Given the description of an element on the screen output the (x, y) to click on. 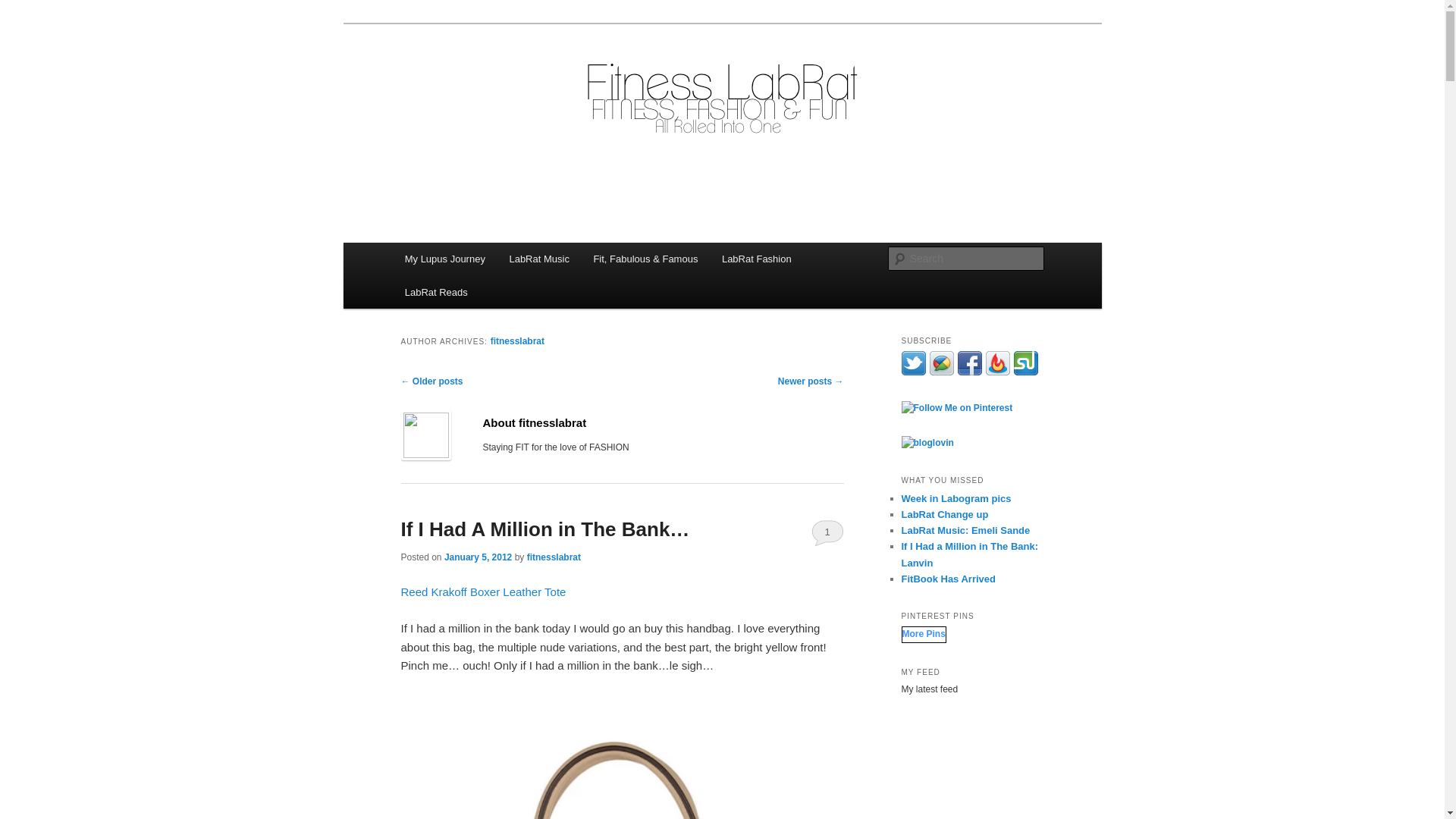
fitnesslabrat.com (494, 78)
January 5, 2012 (478, 557)
fitnesslabrat (553, 557)
7:10 pm (478, 557)
LabRat Music (538, 258)
Reed Krakoff Boxer Leather Tote (483, 591)
Skip to secondary content (479, 261)
Search (24, 8)
View all posts by fitnesslabrat (553, 557)
LabRat Fashion (756, 258)
Skip to secondary content (479, 261)
1 (827, 532)
LabRat Reads (436, 292)
My Lupus Journey (445, 258)
fitnesslabrat (517, 340)
